Given the description of an element on the screen output the (x, y) to click on. 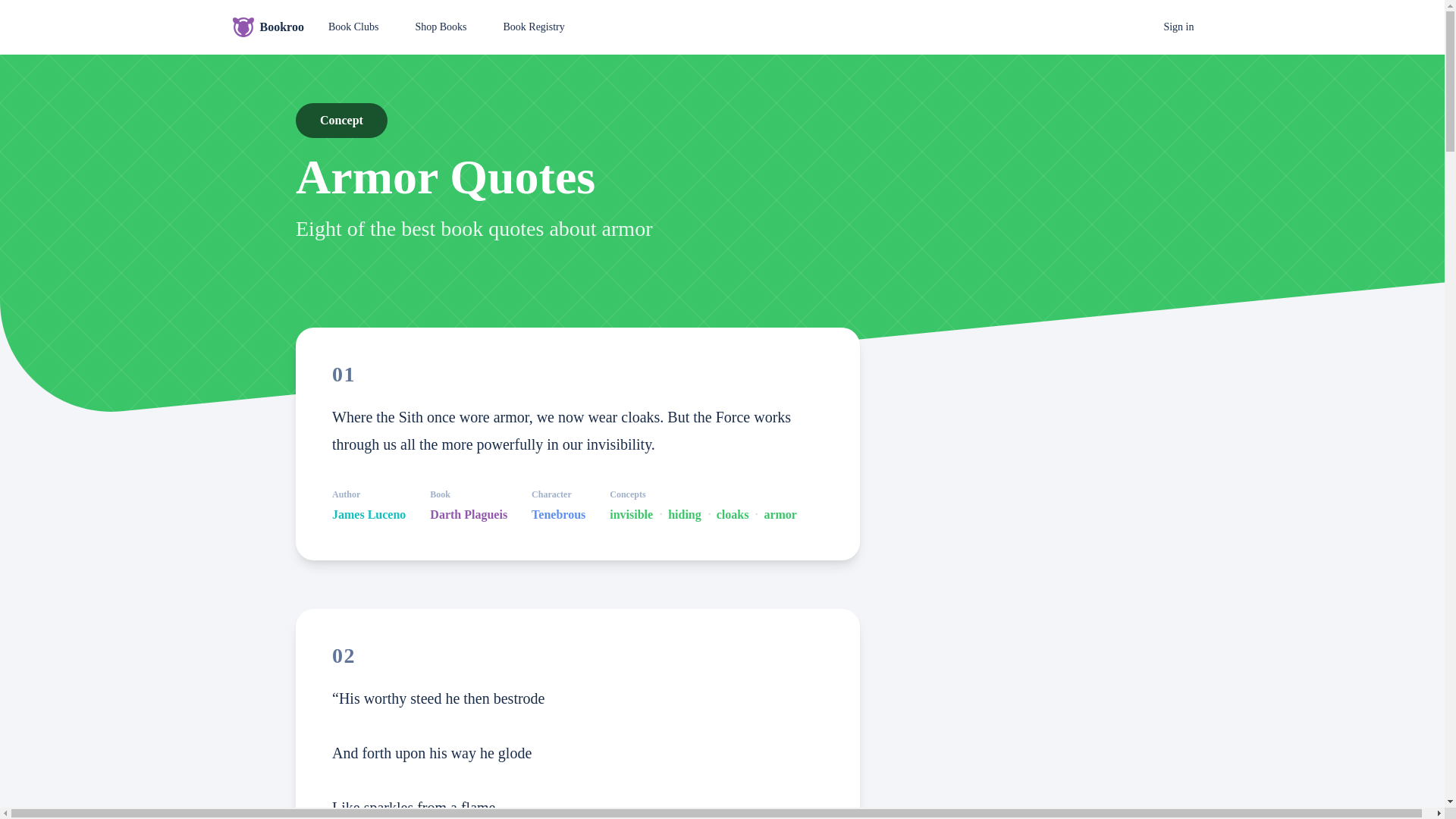
Darth Plagueis (467, 514)
Shop Books (440, 27)
cloaks (732, 514)
invisible (631, 514)
Bookroo (266, 26)
Sign in (1177, 27)
Book Registry (533, 27)
Book Clubs (353, 27)
Tenebrous (558, 514)
James Luceno (368, 514)
hiding (684, 514)
armor (779, 514)
